Given the description of an element on the screen output the (x, y) to click on. 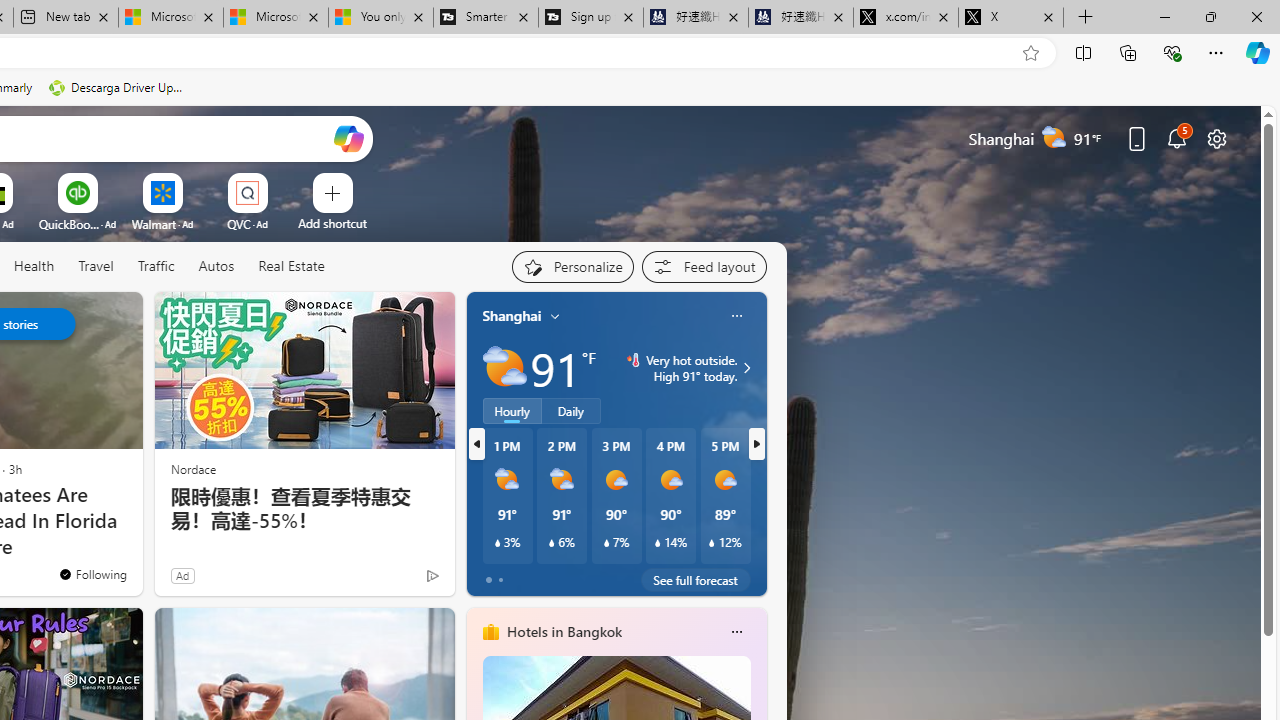
Notifications (1176, 138)
Shanghai (511, 315)
Class: weather-current-precipitation-glyph (712, 543)
Hide this story (82, 315)
Smarter Living | T3 (485, 17)
Feed settings (703, 266)
Travel (95, 265)
